Given the description of an element on the screen output the (x, y) to click on. 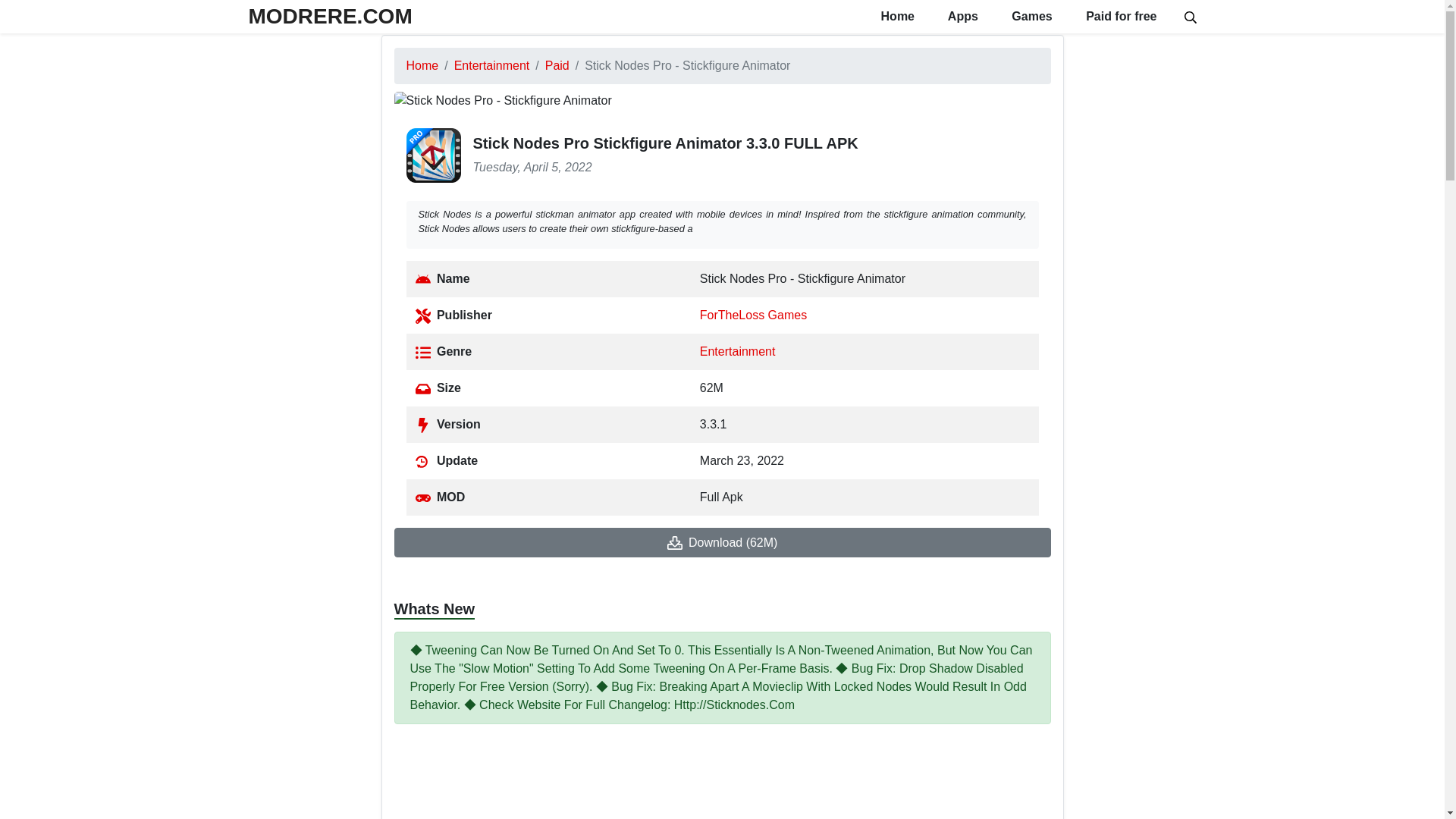
Entertainment (738, 350)
Home (422, 65)
 Home (895, 16)
Developer by ForTheLoss Games (753, 314)
 Apps (961, 16)
Entertainment (491, 65)
MODRERE.COM (330, 15)
ForTheLoss Games (753, 314)
Home (422, 65)
 Paid for free (1119, 16)
Paid (556, 65)
 Games (1029, 16)
